Given the description of an element on the screen output the (x, y) to click on. 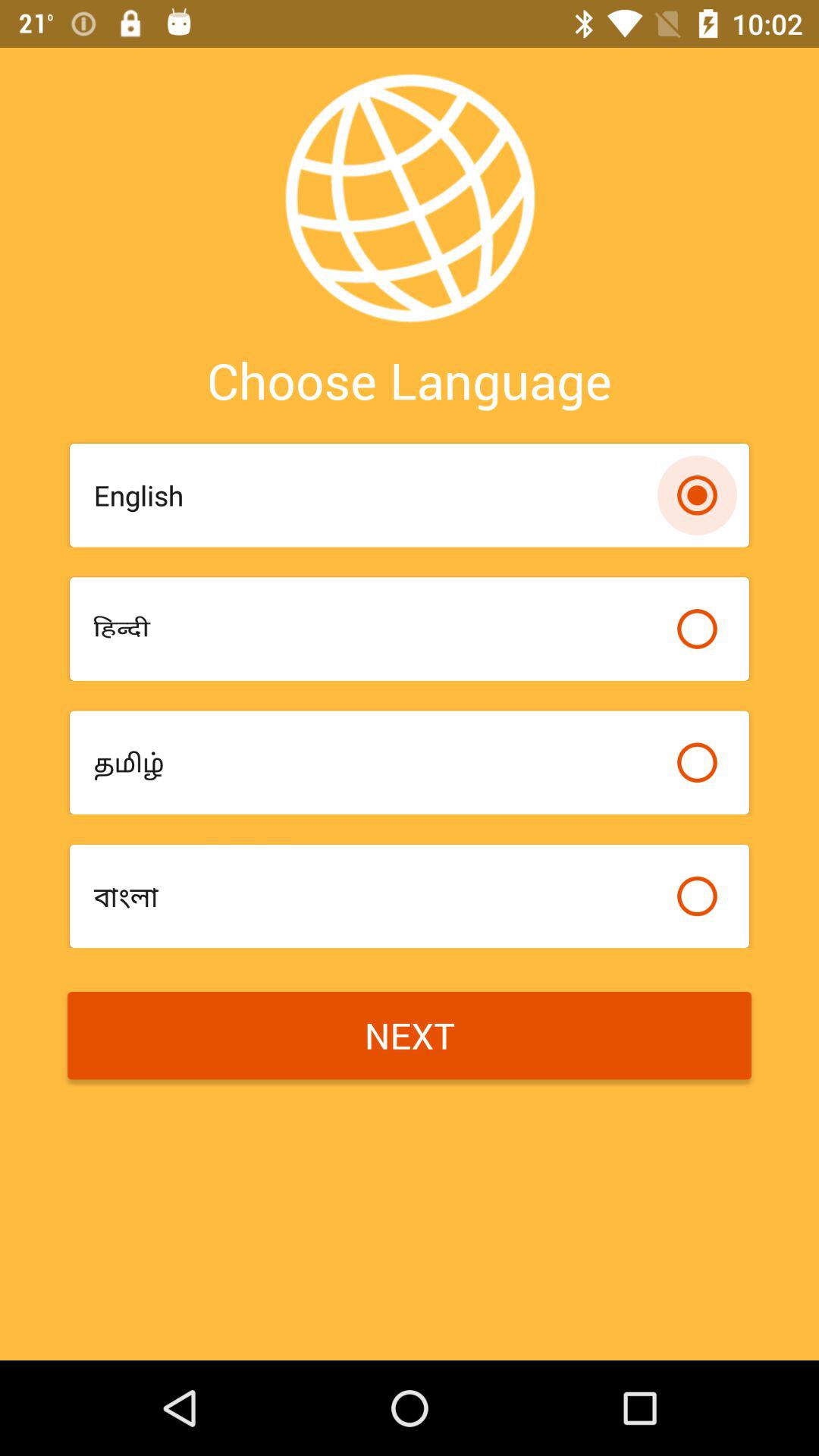
choose button (697, 896)
